Given the description of an element on the screen output the (x, y) to click on. 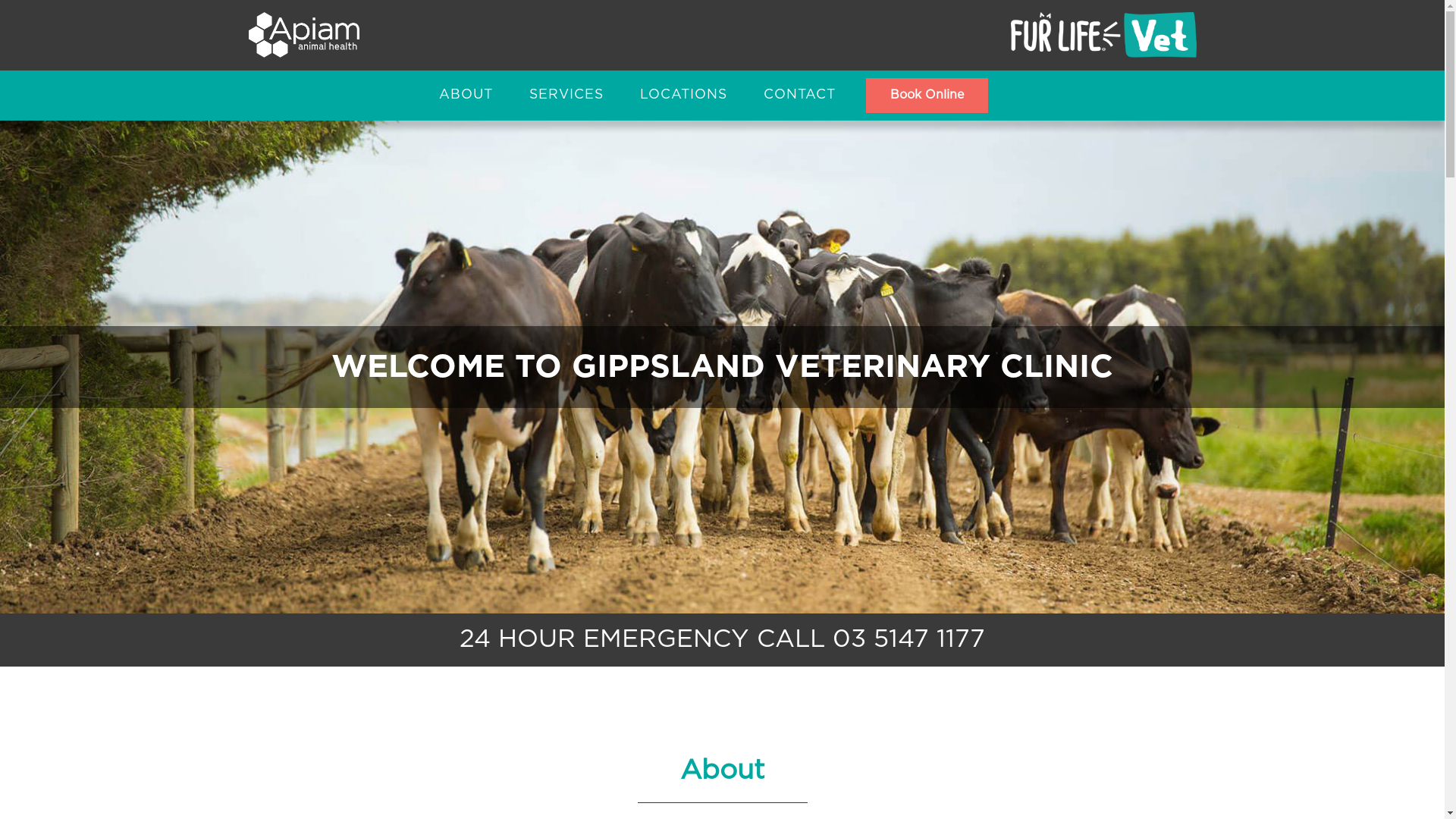
ABOUT Element type: text (465, 95)
SERVICES Element type: text (566, 95)
CONTACT Element type: text (798, 95)
Book Online Element type: text (927, 95)
LOCATIONS Element type: text (683, 95)
03 5147 1177 Element type: text (908, 639)
